Given the description of an element on the screen output the (x, y) to click on. 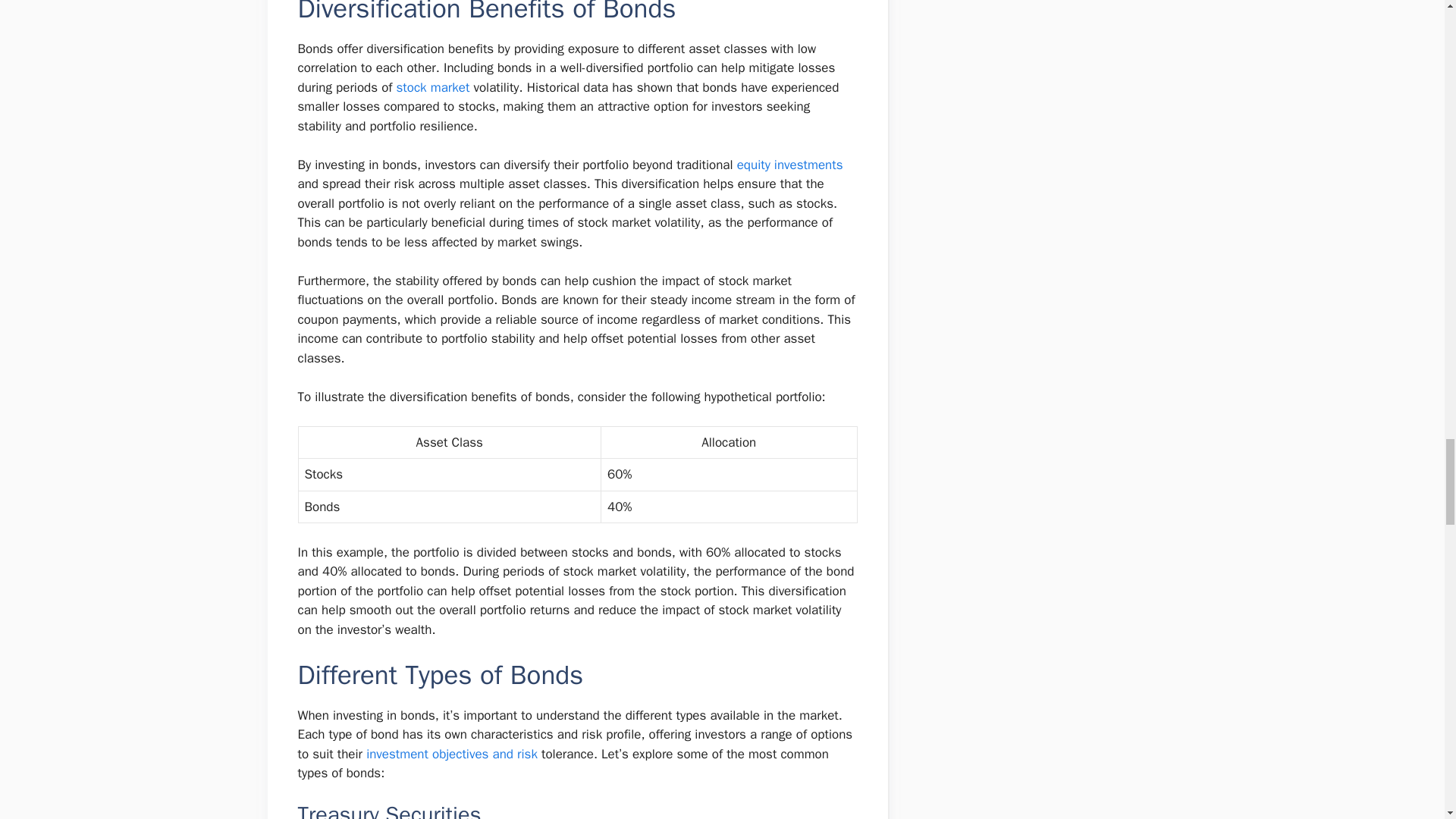
investment objectives and risk (451, 754)
equity investments (789, 164)
stock market (433, 87)
